Given the description of an element on the screen output the (x, y) to click on. 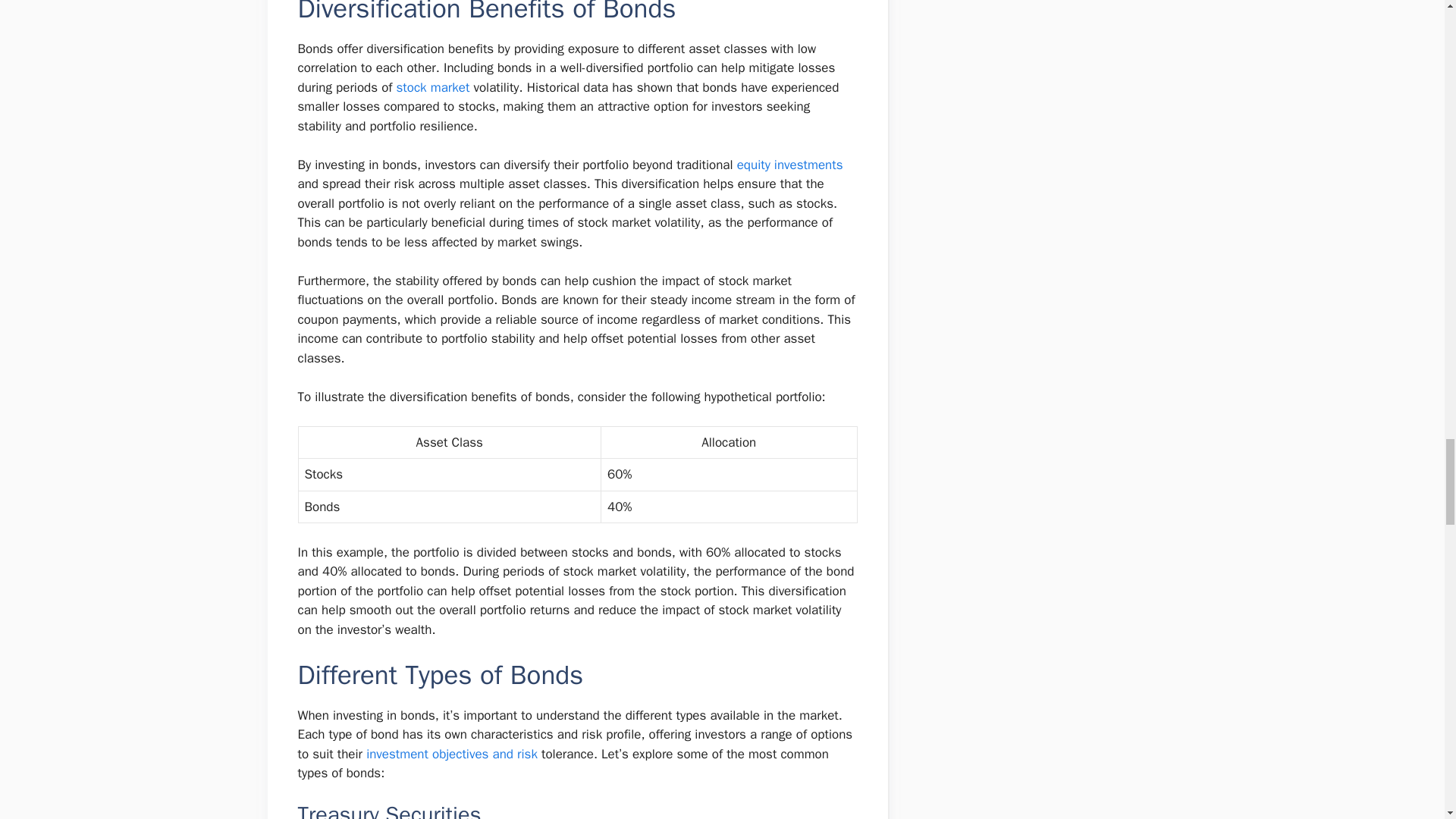
investment objectives and risk (451, 754)
equity investments (789, 164)
stock market (433, 87)
